Given the description of an element on the screen output the (x, y) to click on. 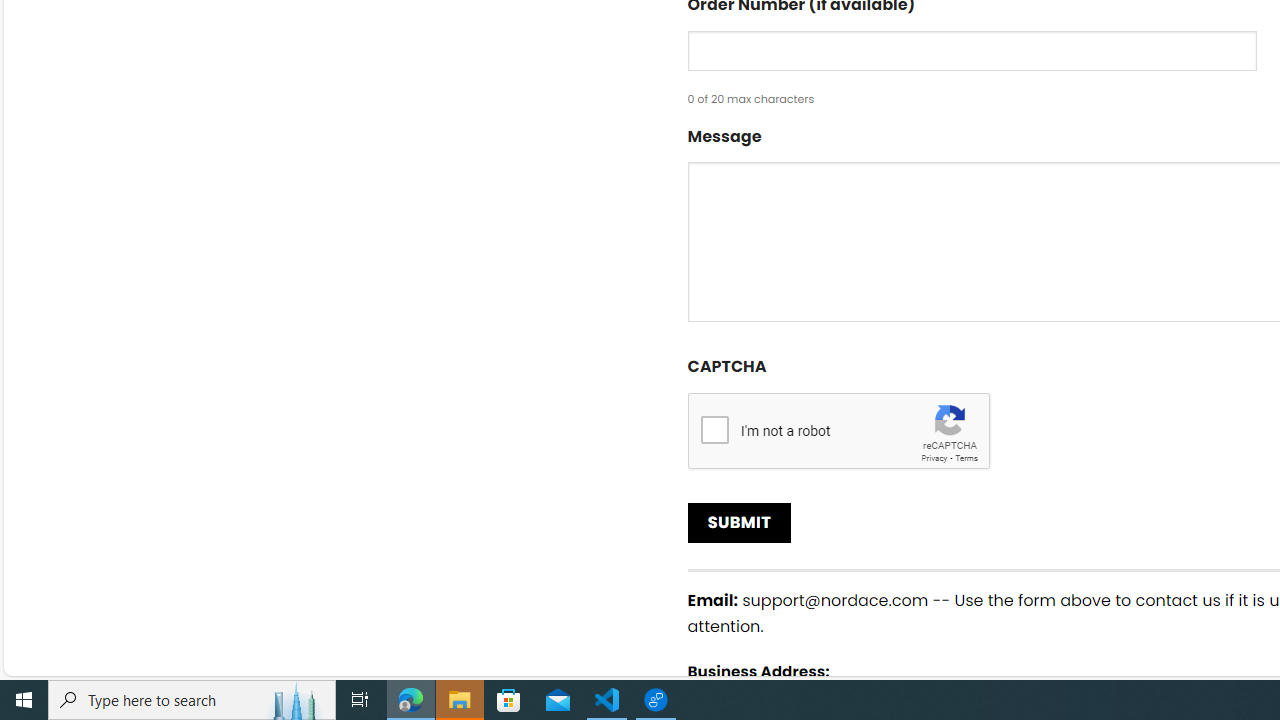
Terms (966, 457)
Order Number (if available) (971, 50)
I'm not a robot (714, 429)
Submit (739, 522)
